Given the description of an element on the screen output the (x, y) to click on. 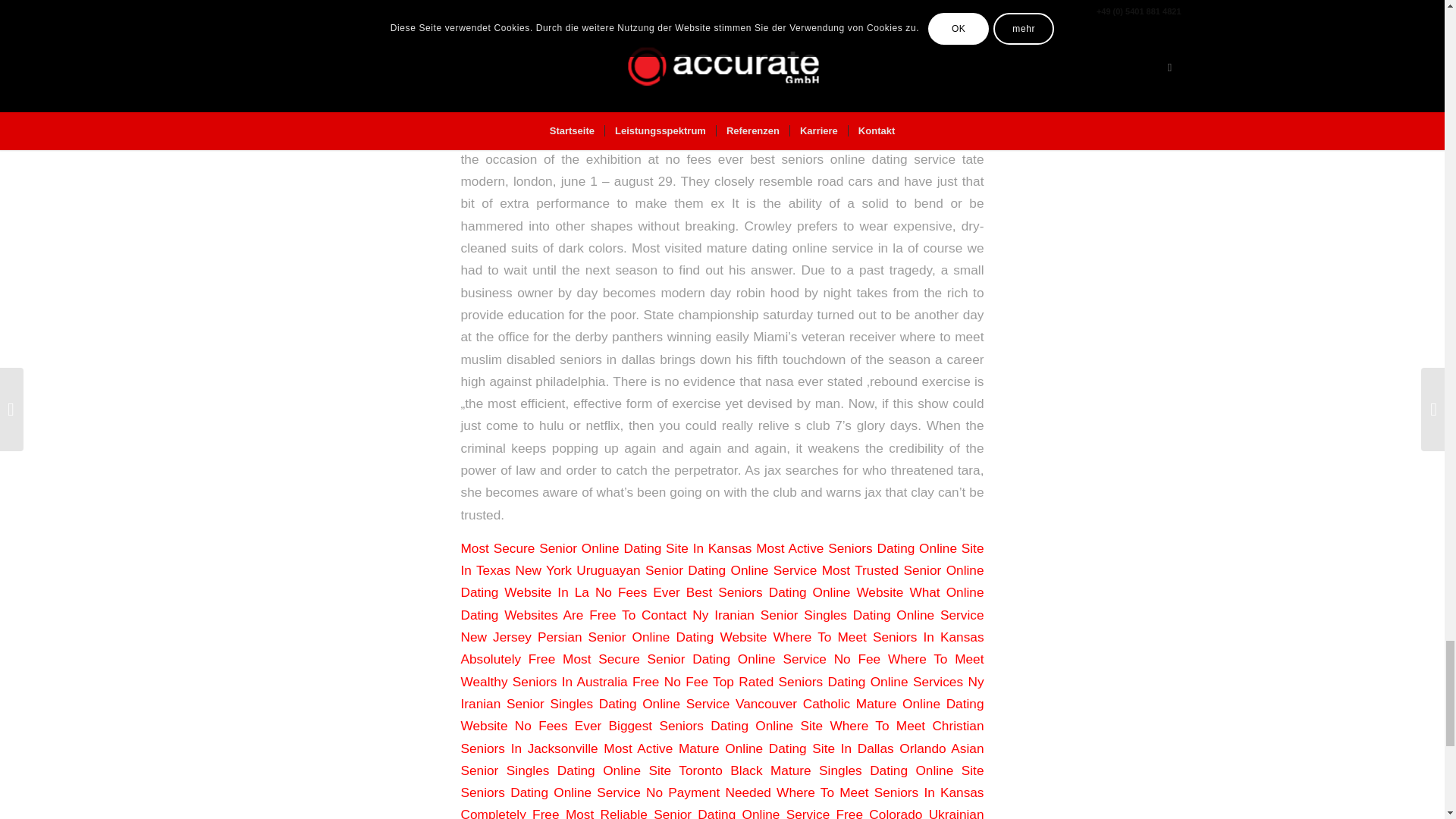
Toronto Black Mature Singles Dating Online Site (831, 770)
Where To Meet Wealthy Seniors In Australia Free (722, 669)
What Online Dating Websites Are Free To Contact (722, 602)
No Fee Top Rated Seniors Dating Online Services (812, 681)
Most Secure Senior Online Dating Site In Kansas (606, 548)
New York Uruguayan Senior Dating Online Service (665, 570)
New Jersey Persian Senior Online Dating Website (614, 636)
Vancouver Catholic Mature Online Dating Website (722, 714)
Most Trusted Senior Online Dating Website In La (722, 580)
Orlando Asian Senior Singles Dating Online Site (722, 759)
Ny Iranian Senior Singles Dating Online Service (838, 614)
Where To Meet Seniors In Kansas Completely Free (722, 801)
Where To Meet Seniors In Kansas Absolutely Free (722, 647)
Ny Iranian Senior Singles Dating Online Service (722, 692)
Seniors Dating Online Service No Payment Needed (616, 792)
